Given the description of an element on the screen output the (x, y) to click on. 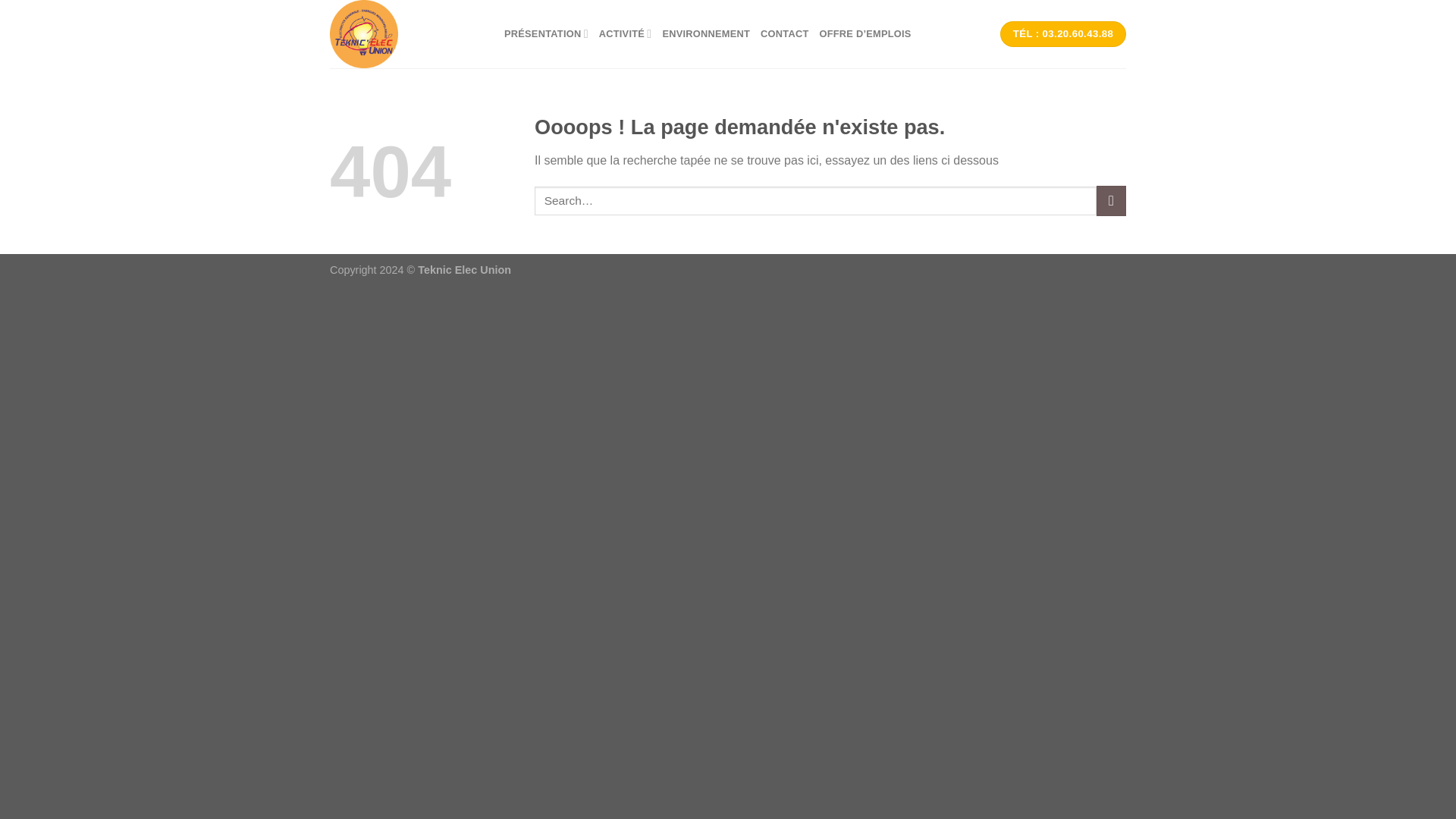
CONTACT (784, 33)
ENVIRONNEMENT (705, 33)
